Given the description of an element on the screen output the (x, y) to click on. 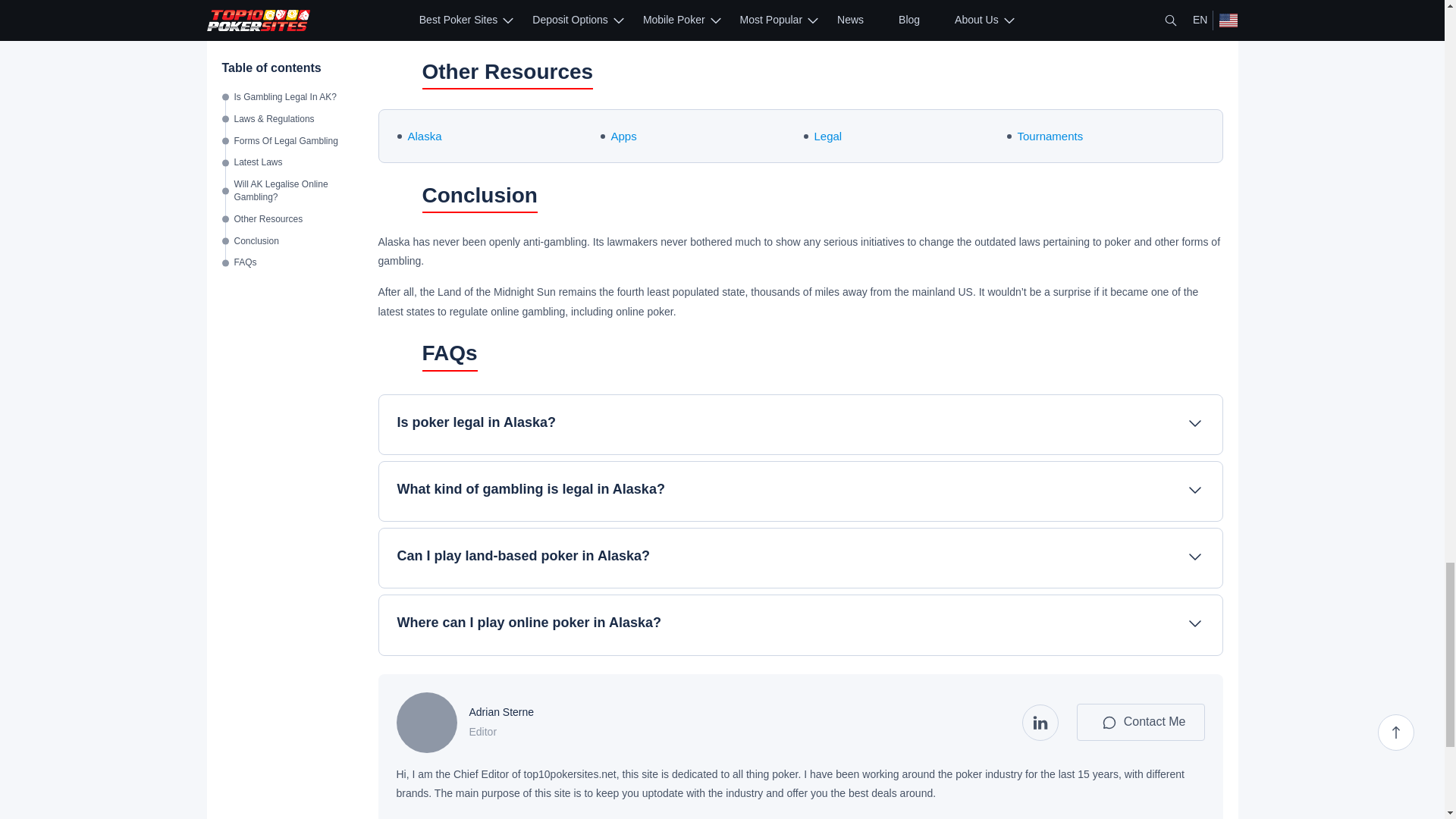
Other Resources (395, 75)
Conclusion (395, 198)
FAQs (395, 356)
